Given the description of an element on the screen output the (x, y) to click on. 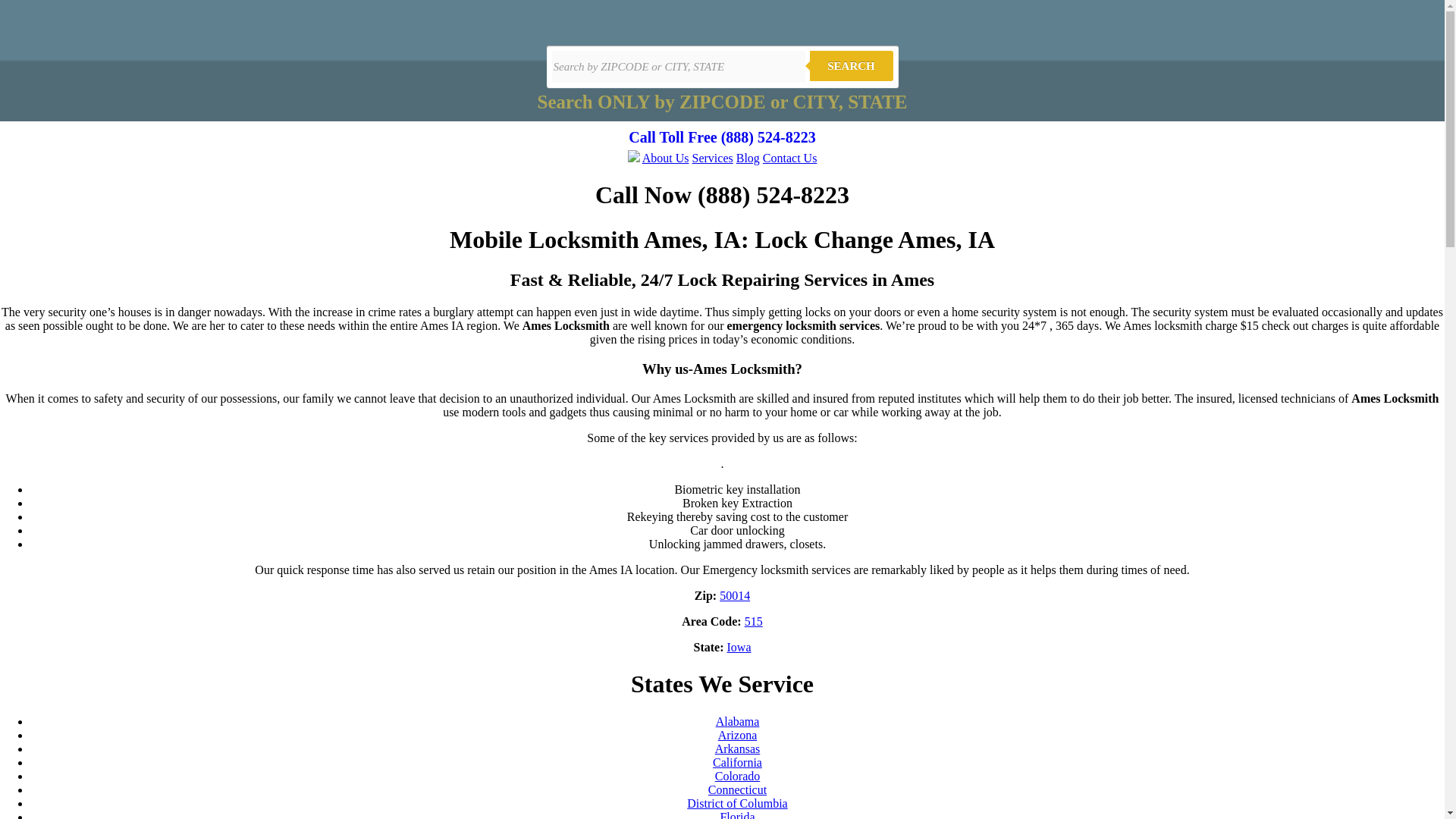
Colorado (737, 775)
Arizona (737, 735)
Florida (736, 814)
Connecticut (737, 789)
Arkansas (737, 748)
SEARCH (851, 65)
Contact Us (789, 157)
District of Columbia (737, 802)
Iowa (738, 646)
Blog (748, 157)
Services (713, 157)
California (737, 762)
515 (753, 621)
50014 (734, 594)
Alabama (738, 721)
